Given the description of an element on the screen output the (x, y) to click on. 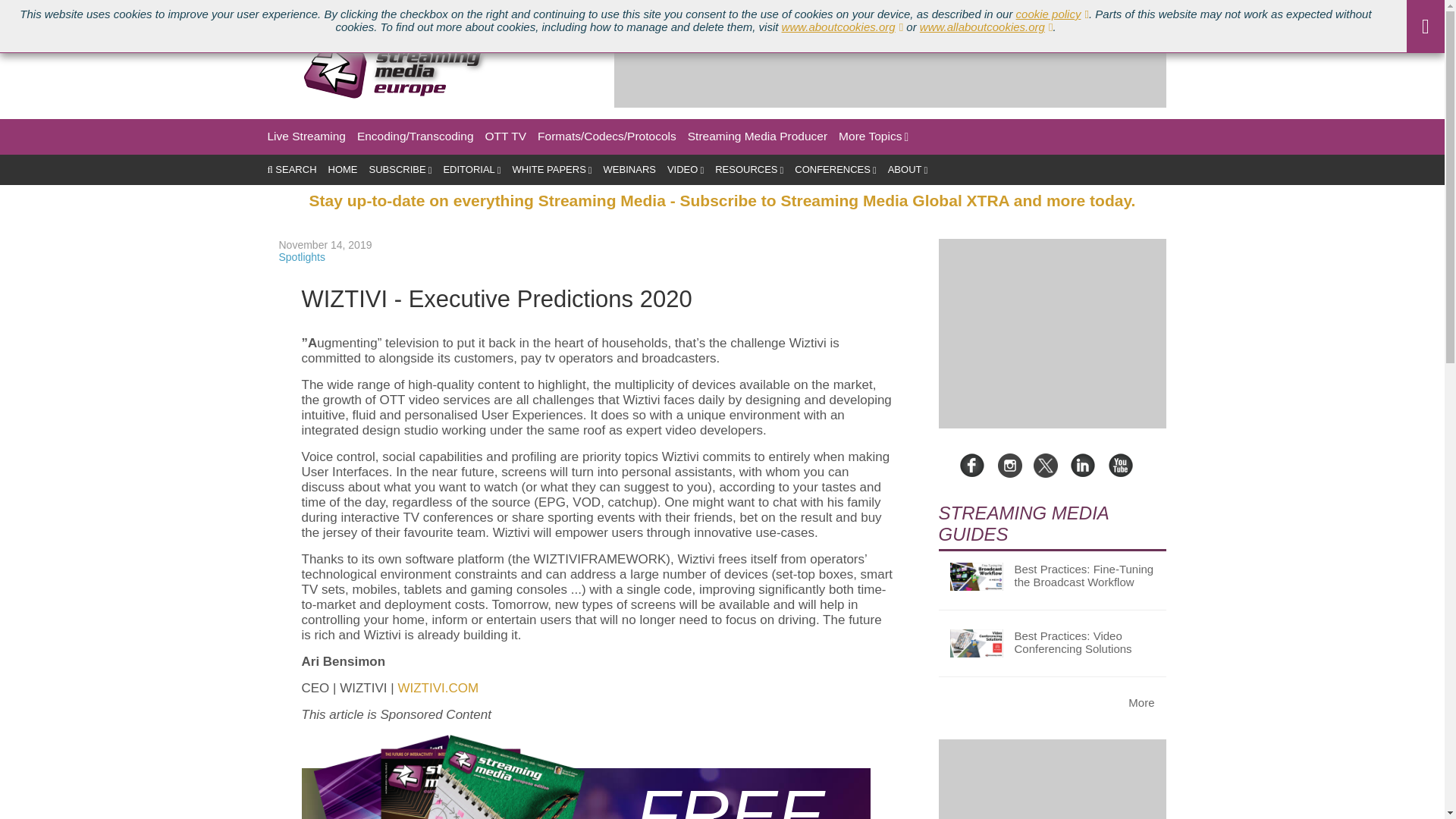
3rd party ad content (890, 73)
OTT TV (505, 136)
cookie policy (1052, 13)
 SEARCH (290, 169)
STREAMING MEDIA CONNECT 2024 (232, 10)
Live Streaming (305, 136)
Streaming Media Producer (757, 136)
www.allaboutcookies.org (986, 26)
STREAMING MEDIA NYC (394, 10)
Streaming Media Producer (757, 136)
SUBSCRIBE (400, 169)
Live Streaming (305, 136)
EDITORIAL (471, 169)
OTT TV (505, 136)
More Topics (873, 136)
